Given the description of an element on the screen output the (x, y) to click on. 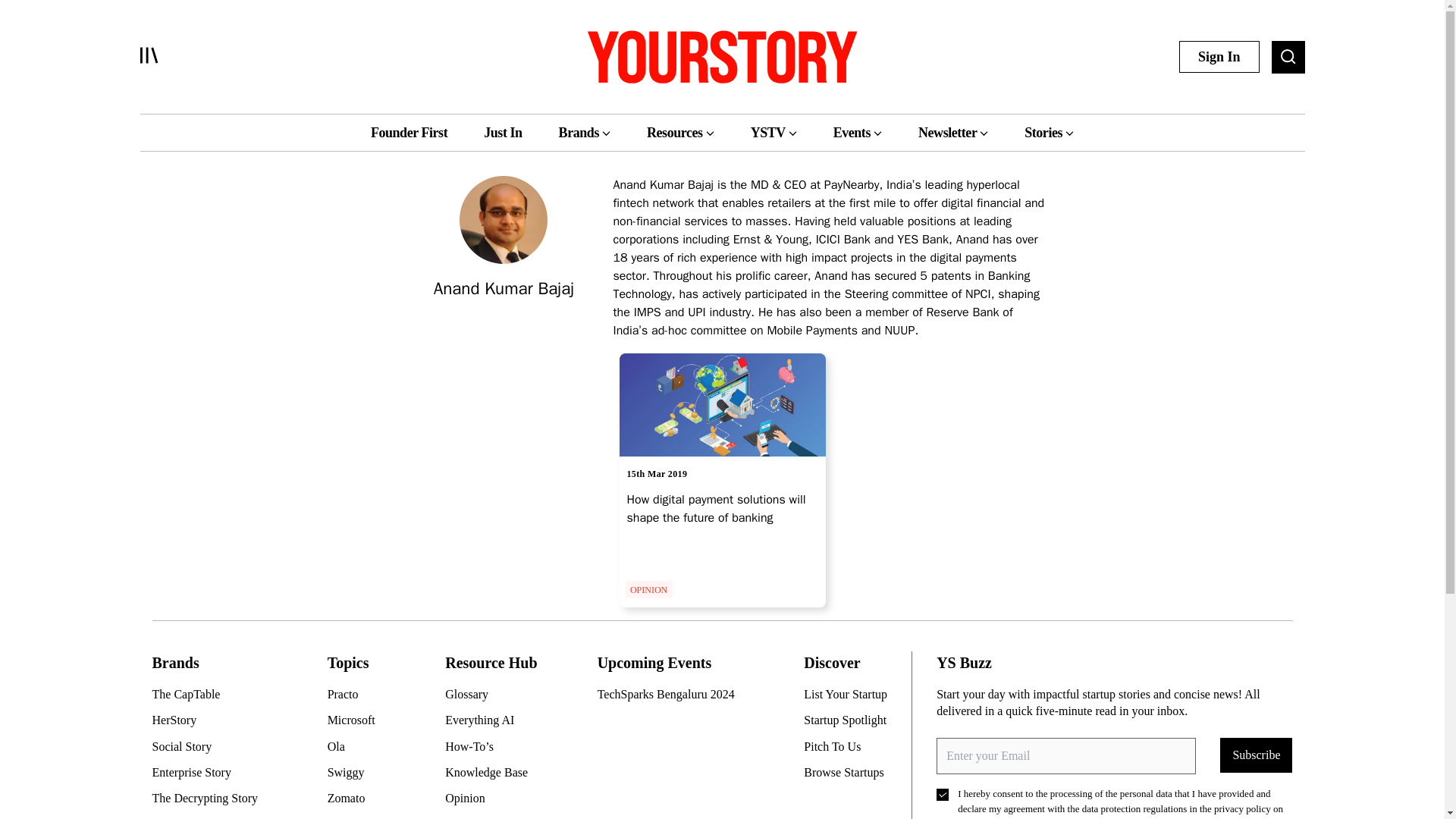
Practo (357, 694)
Microsoft (357, 719)
Zomato (357, 798)
Ola (357, 746)
Enterprise Story (210, 772)
Founder First (408, 132)
The CapTable (210, 694)
Glossary (492, 694)
Uber (357, 817)
Social Story (210, 746)
OPINION (647, 589)
Swiggy (357, 772)
Knowledge Base (492, 772)
YS Life (210, 817)
